Given the description of an element on the screen output the (x, y) to click on. 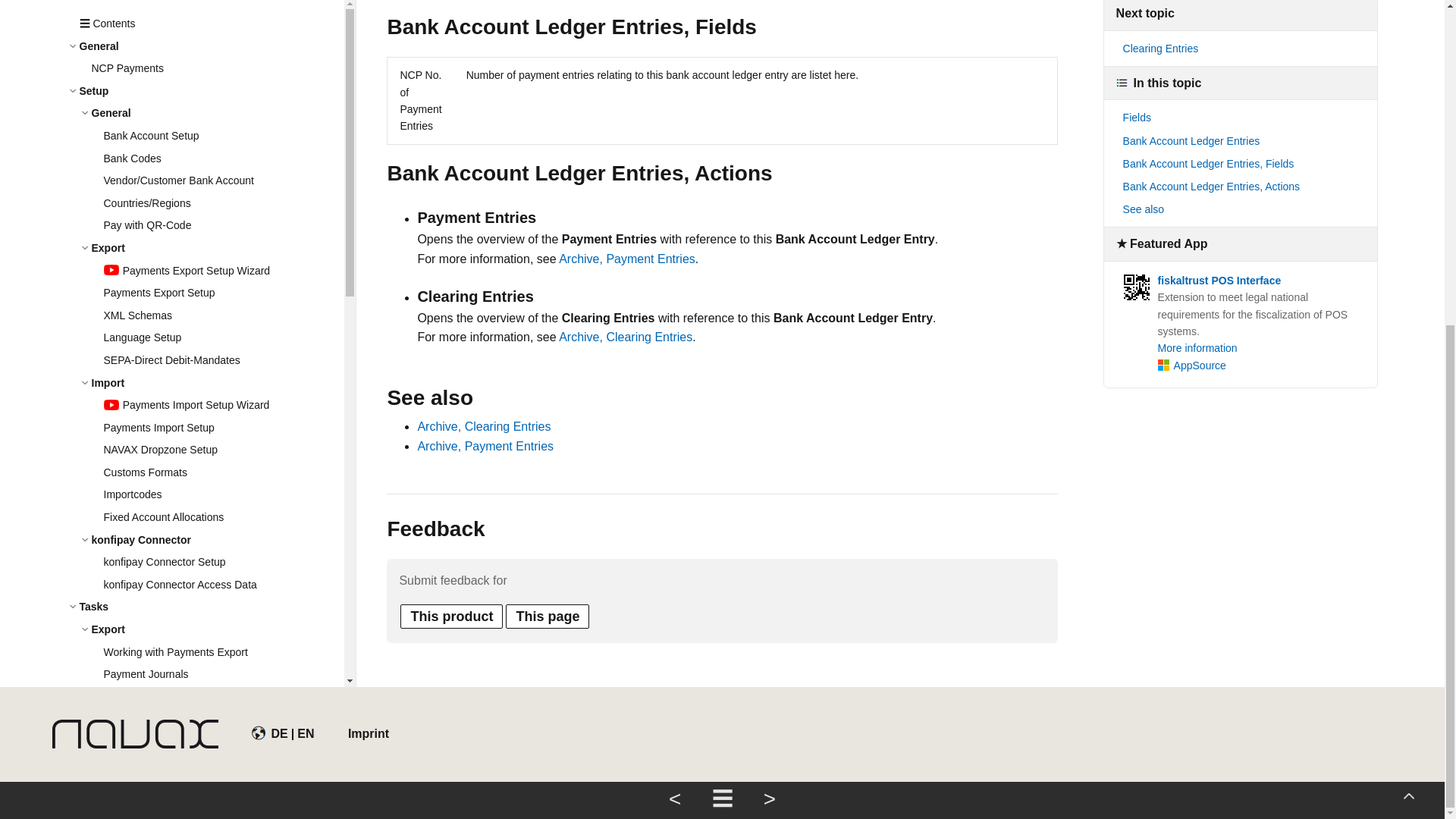
Payment File Summary (223, 325)
Fixed Account Allocations (223, 78)
Working with Payments Import (223, 392)
NAVAX Dropzone Setup (223, 11)
Bank Account Reconciliation (223, 460)
Import Payment File (223, 415)
Working with Payments Export (223, 213)
Next topic (769, 266)
Create Payment File (223, 280)
One-Time Transfer (223, 302)
Payment Notification E-Mail Suggestion (223, 347)
Previous topic (675, 266)
Payment Journals (223, 235)
Customs Formats (223, 34)
konfipay Connector Access Data (223, 146)
